Given the description of an element on the screen output the (x, y) to click on. 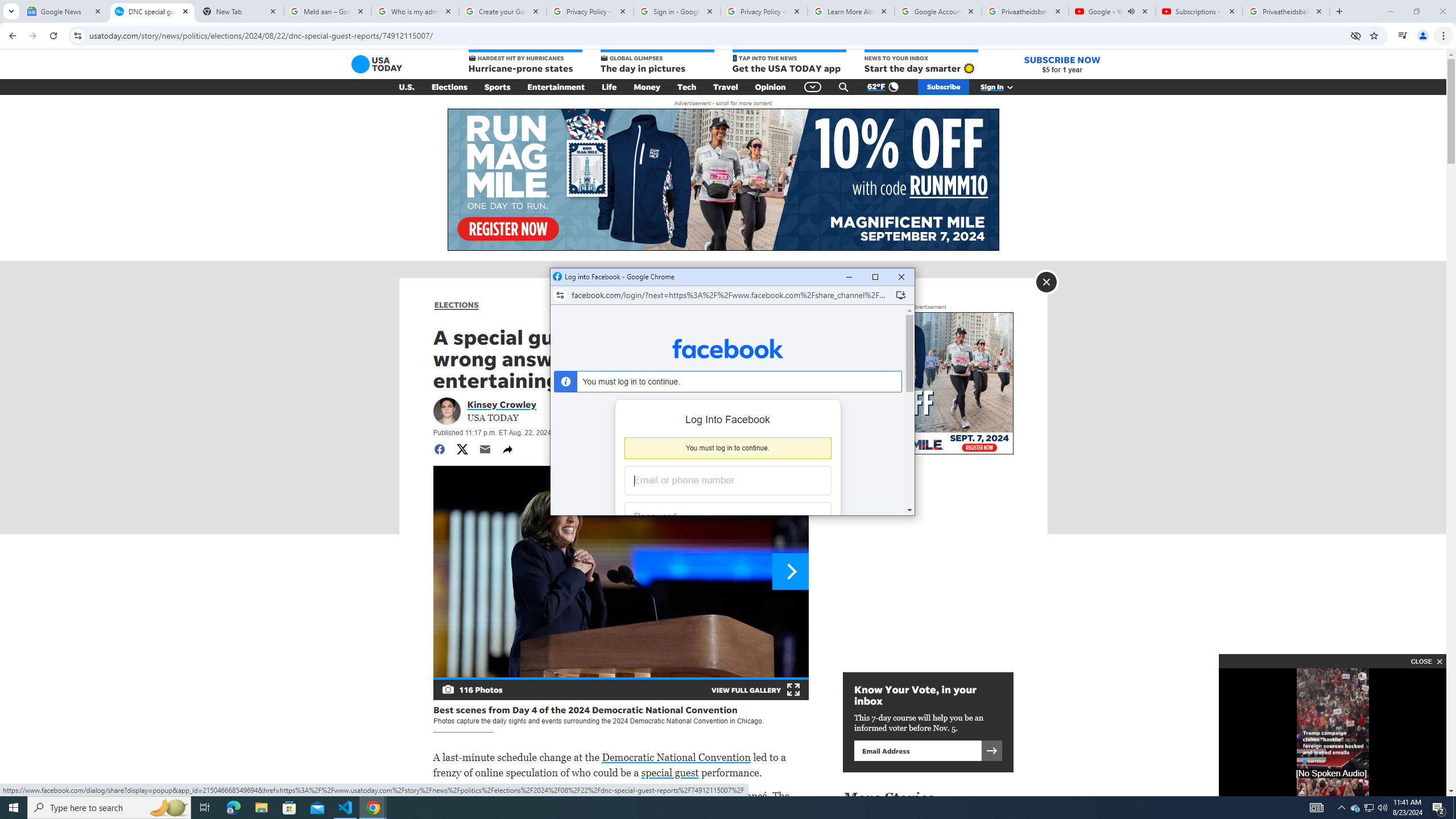
ELECTIONS (456, 304)
special guest (669, 772)
Share to Twitter (461, 449)
Notification Chevron (1341, 807)
Microsoft Store (289, 807)
Type here to search (108, 807)
Sign In (1002, 87)
Close autoplay video player (1425, 661)
Subscriptions - YouTube (1198, 11)
Tech (686, 87)
Portrait of Kinsey Crowley (446, 411)
